Given the description of an element on the screen output the (x, y) to click on. 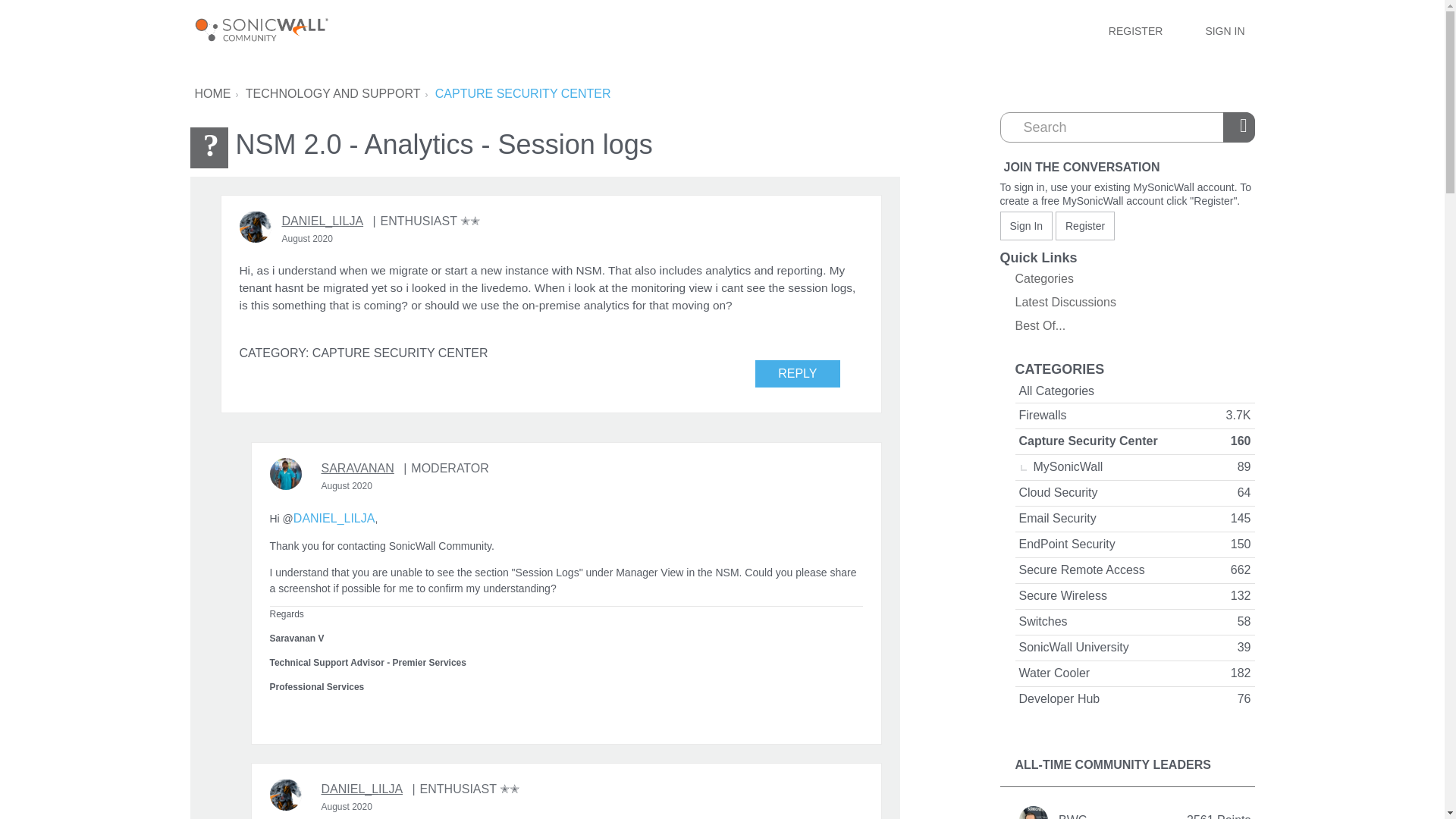
CAPTURE SECURITY CENTER (523, 92)
Code Name Boston Terrier (425, 221)
August 2020 (307, 238)
SIGN IN (1224, 30)
Saravanan (285, 473)
SARAVANAN (357, 468)
August 12 2020 05:00pm (346, 485)
Go (1240, 127)
August 2020 (346, 485)
REPLY (797, 373)
